Given the description of an element on the screen output the (x, y) to click on. 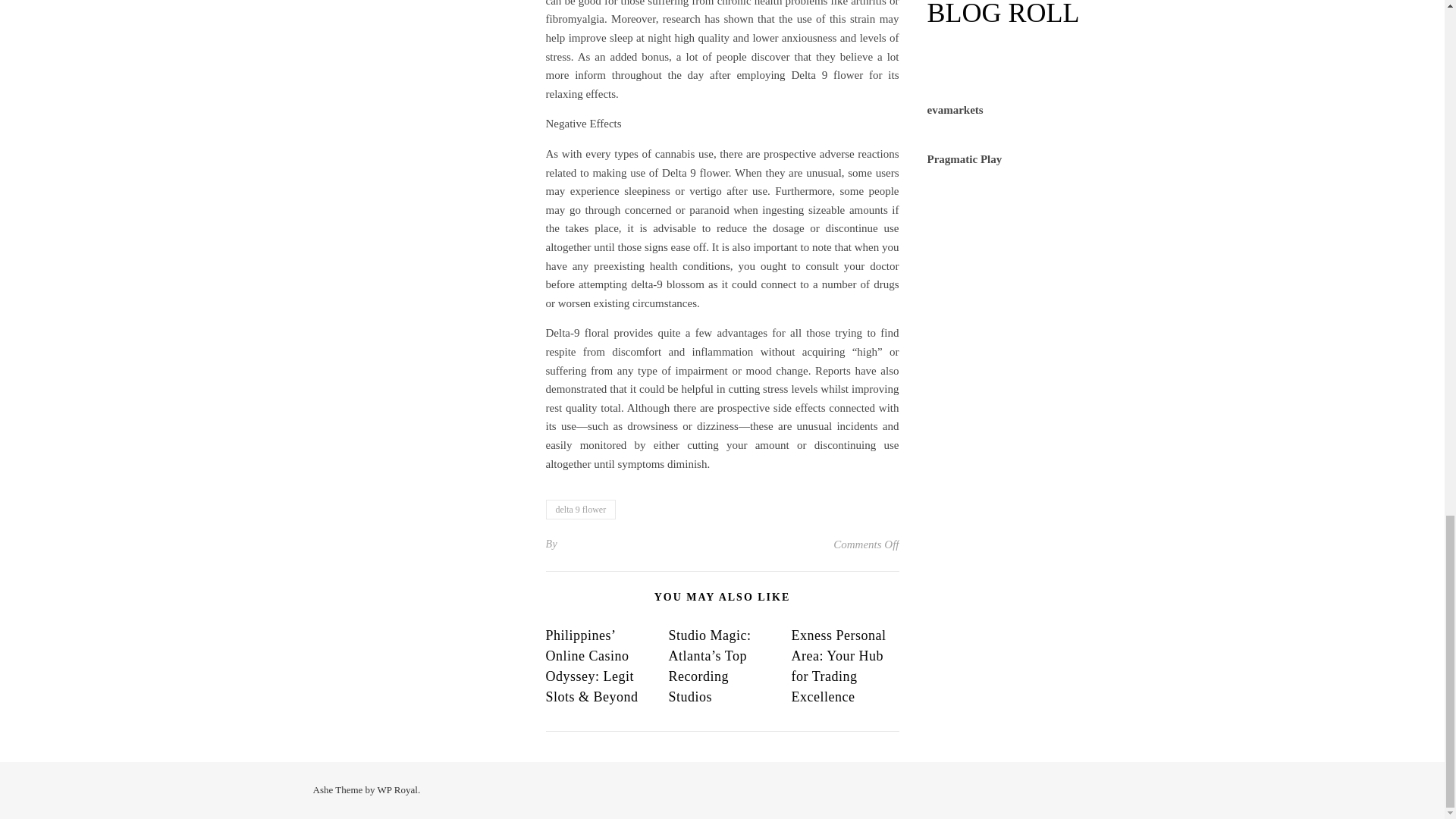
Exness Personal Area: Your Hub for Trading Excellence (837, 666)
delta 9 flower (580, 509)
